Given the description of an element on the screen output the (x, y) to click on. 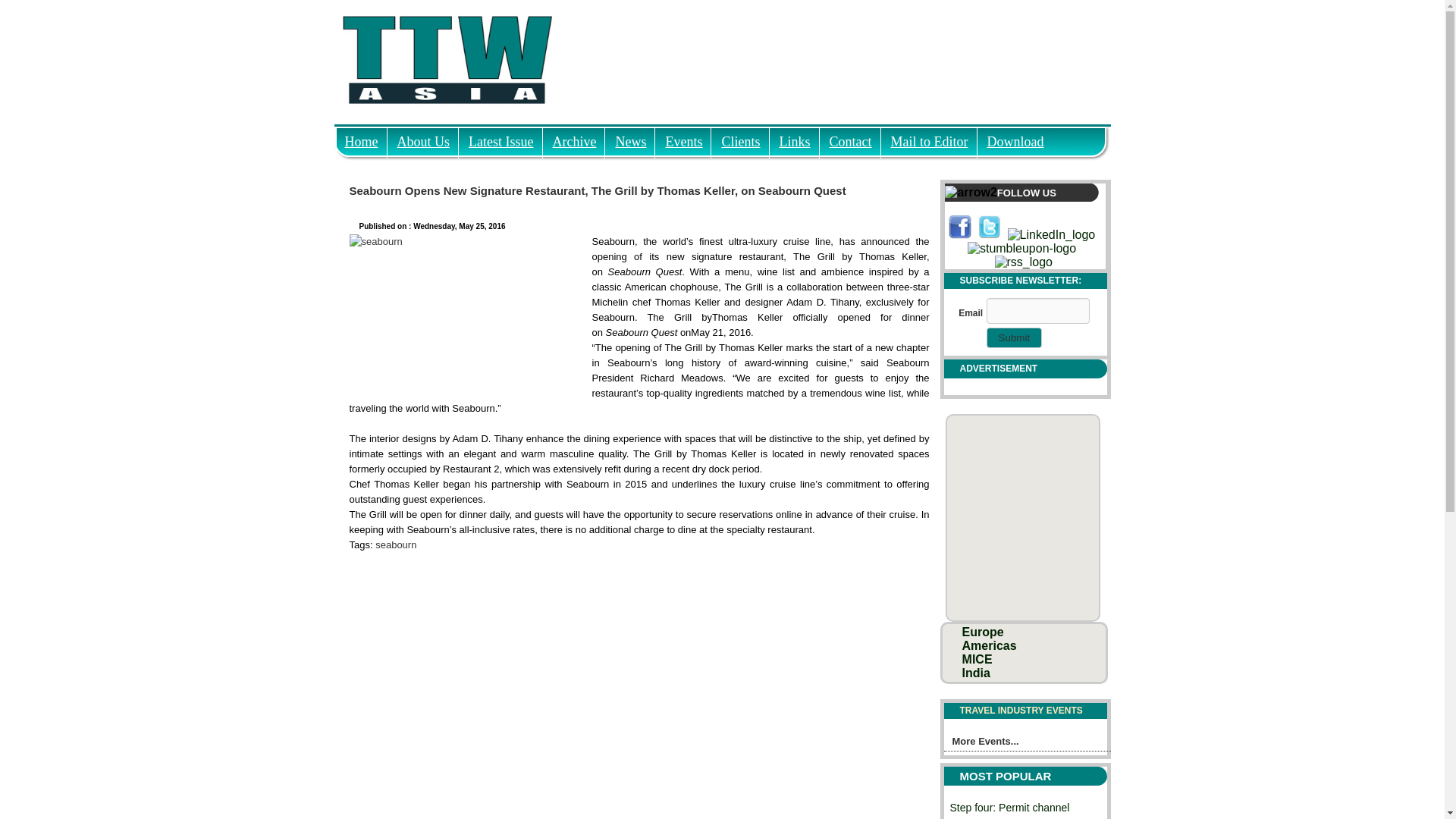
Archive (574, 137)
Mail to Editor (929, 137)
Step four: Permit channel announcements since requisite (1008, 810)
More Events... (1026, 743)
Home (361, 137)
Americas (989, 645)
Europe (983, 631)
Latest Issue (500, 137)
India (976, 672)
Submit (1014, 337)
